Given the description of an element on the screen output the (x, y) to click on. 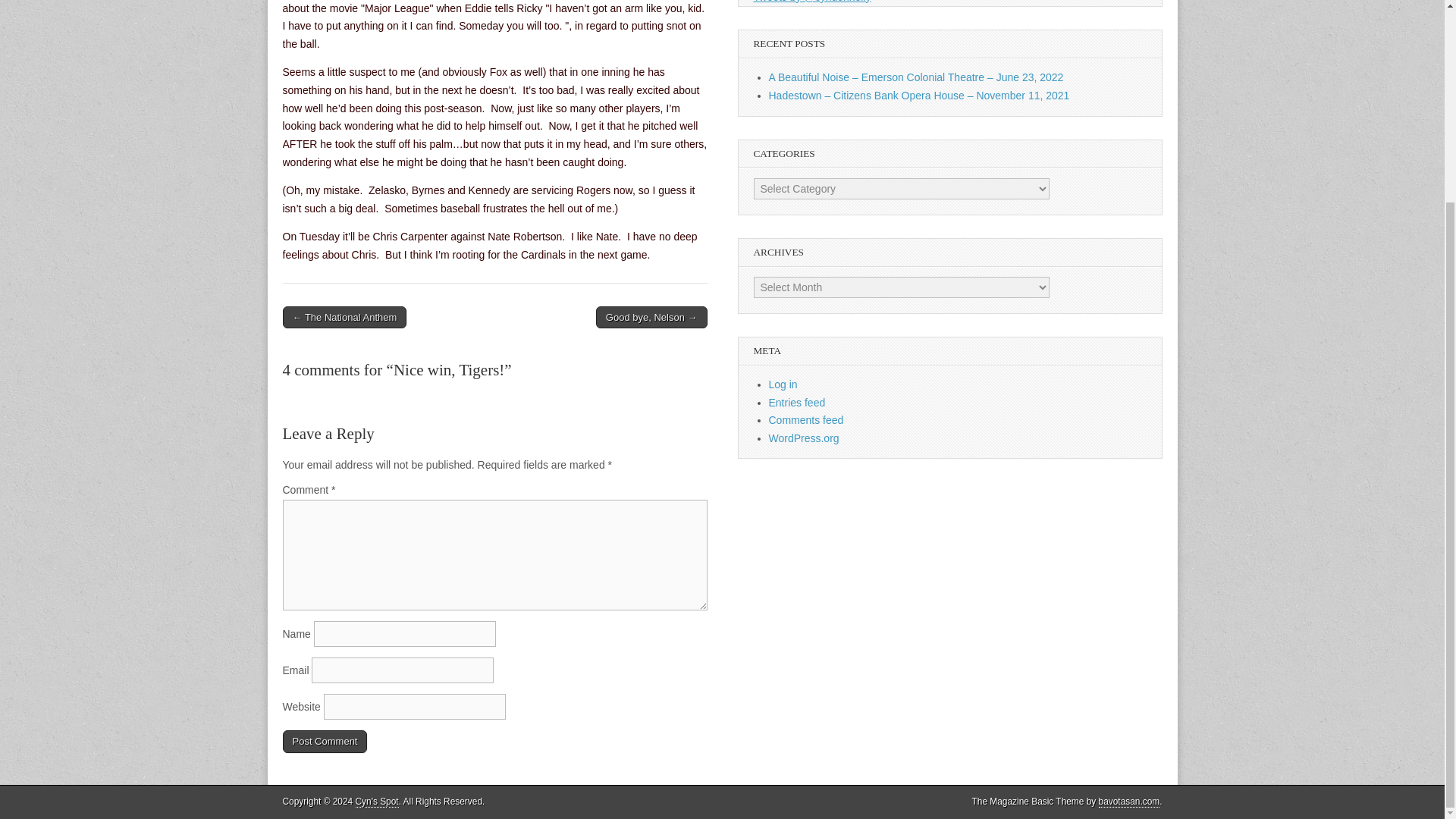
WordPress.org (804, 438)
bavotasan.com (1129, 801)
Comments feed (806, 419)
Entries feed (796, 402)
Cyn's Spot (376, 801)
Post Comment (324, 741)
Log in (782, 384)
Post Comment (324, 741)
